Given the description of an element on the screen output the (x, y) to click on. 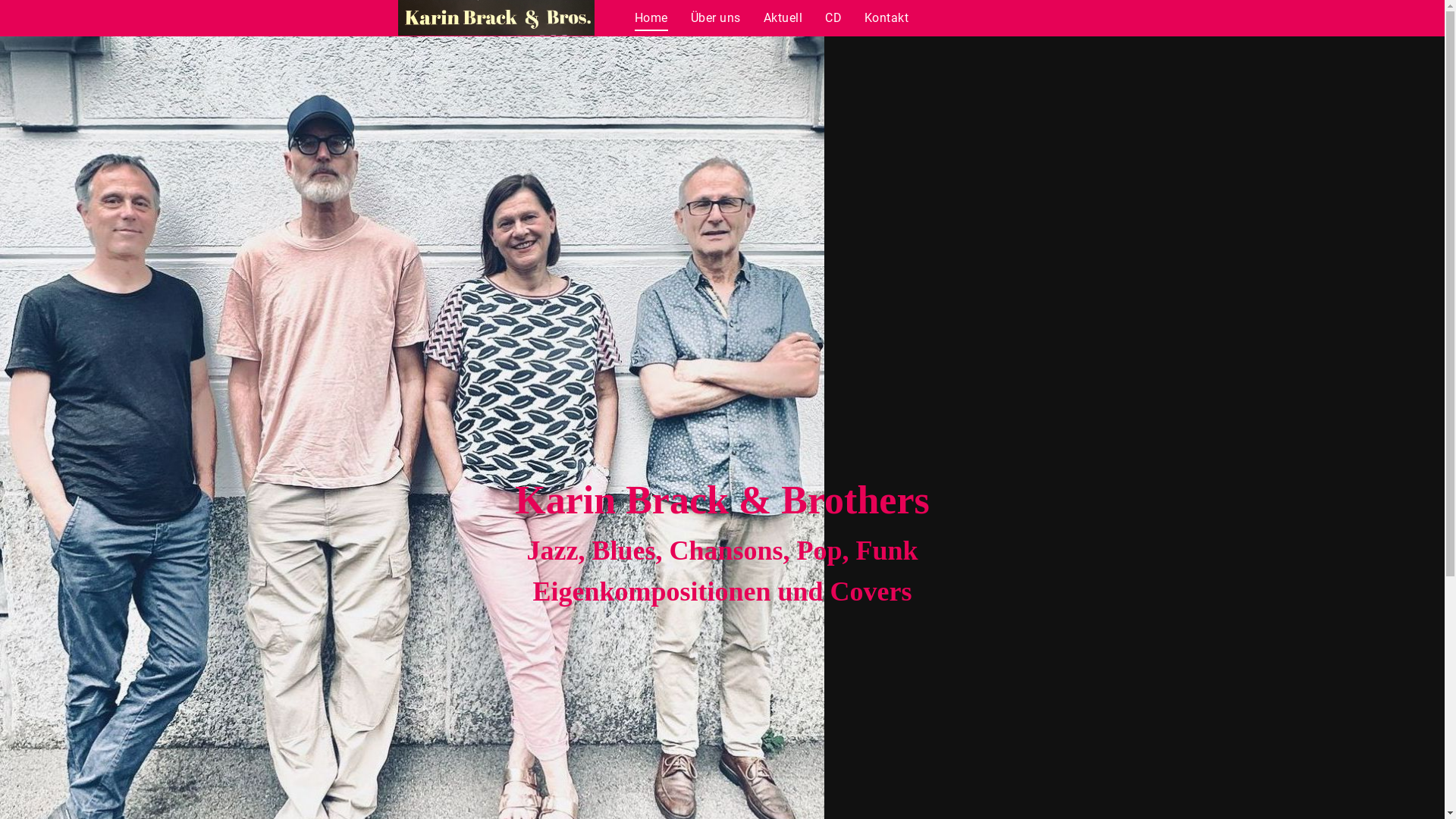
Kontakt Element type: text (886, 18)
CD Element type: text (833, 18)
Aktuell Element type: text (782, 18)
Home Element type: text (651, 18)
